Given the description of an element on the screen output the (x, y) to click on. 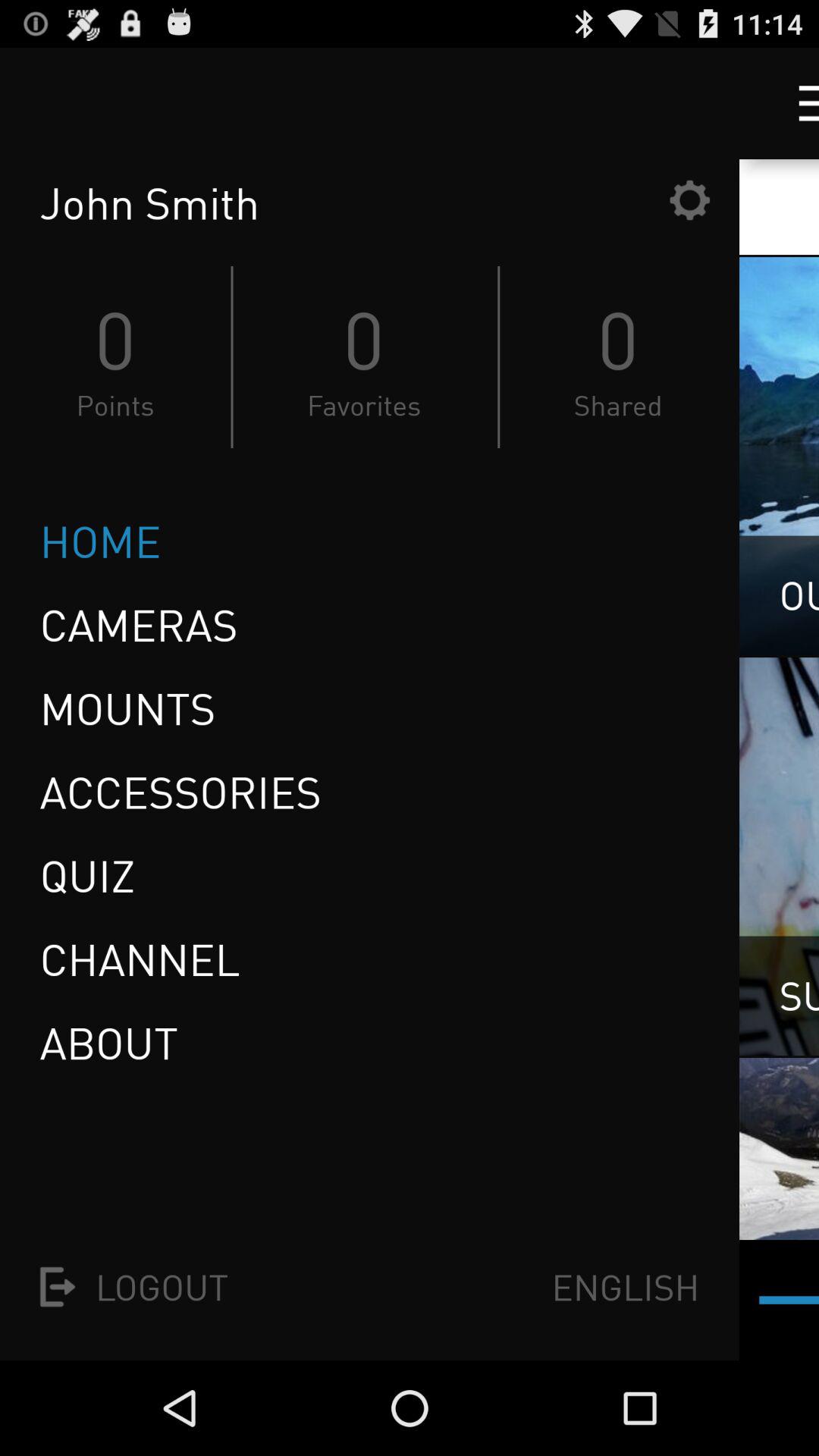
open item below the accessories (92, 875)
